Given the description of an element on the screen output the (x, y) to click on. 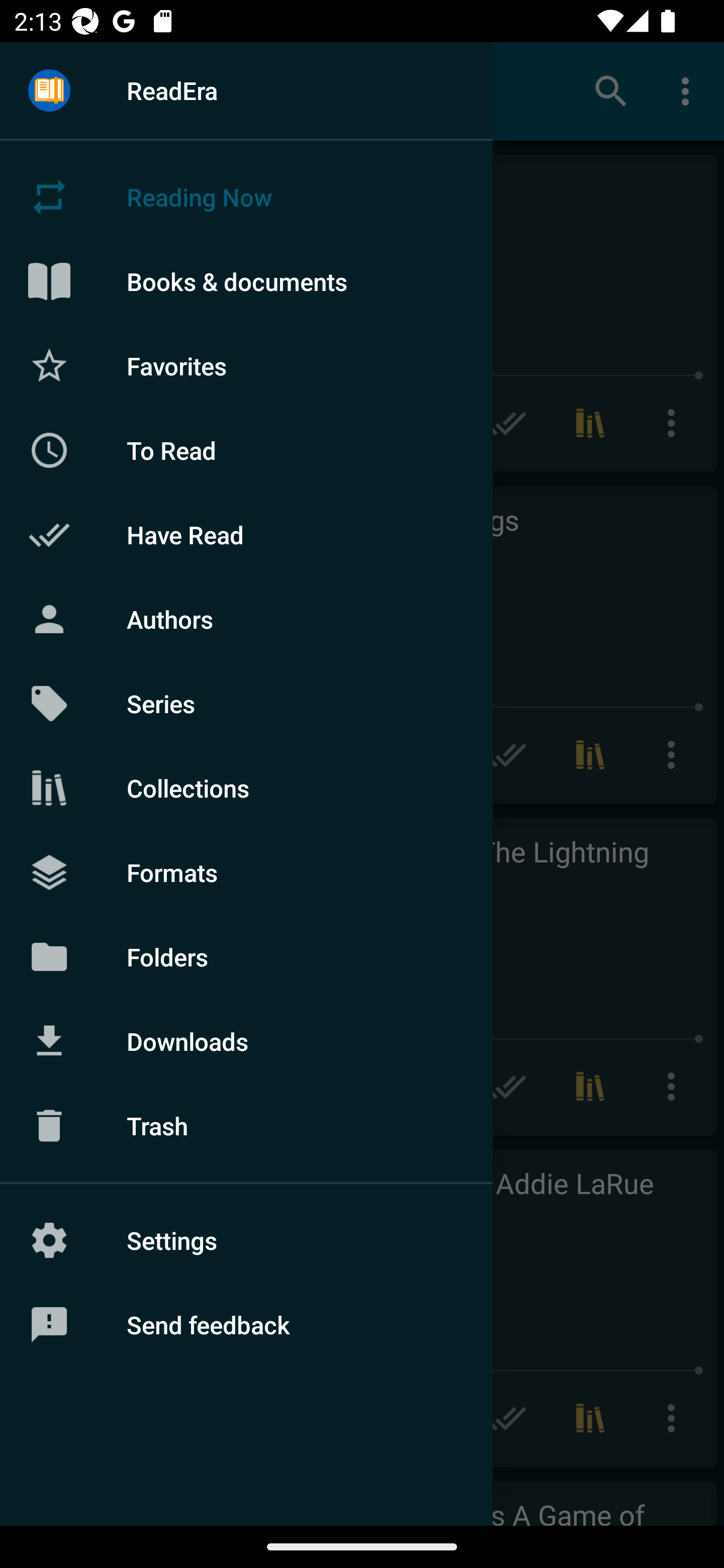
Menu (49, 91)
ReadEra (246, 89)
Search books & documents (611, 90)
More options (688, 90)
Reading Now (246, 197)
Books & documents (246, 281)
Favorites (246, 365)
To Read (246, 449)
Have Read (246, 534)
Authors (246, 619)
Series (246, 703)
Collections (246, 787)
Formats (246, 871)
Folders (246, 956)
Downloads (246, 1040)
Trash (246, 1125)
Settings (246, 1239)
Send feedback (246, 1324)
